Given the description of an element on the screen output the (x, y) to click on. 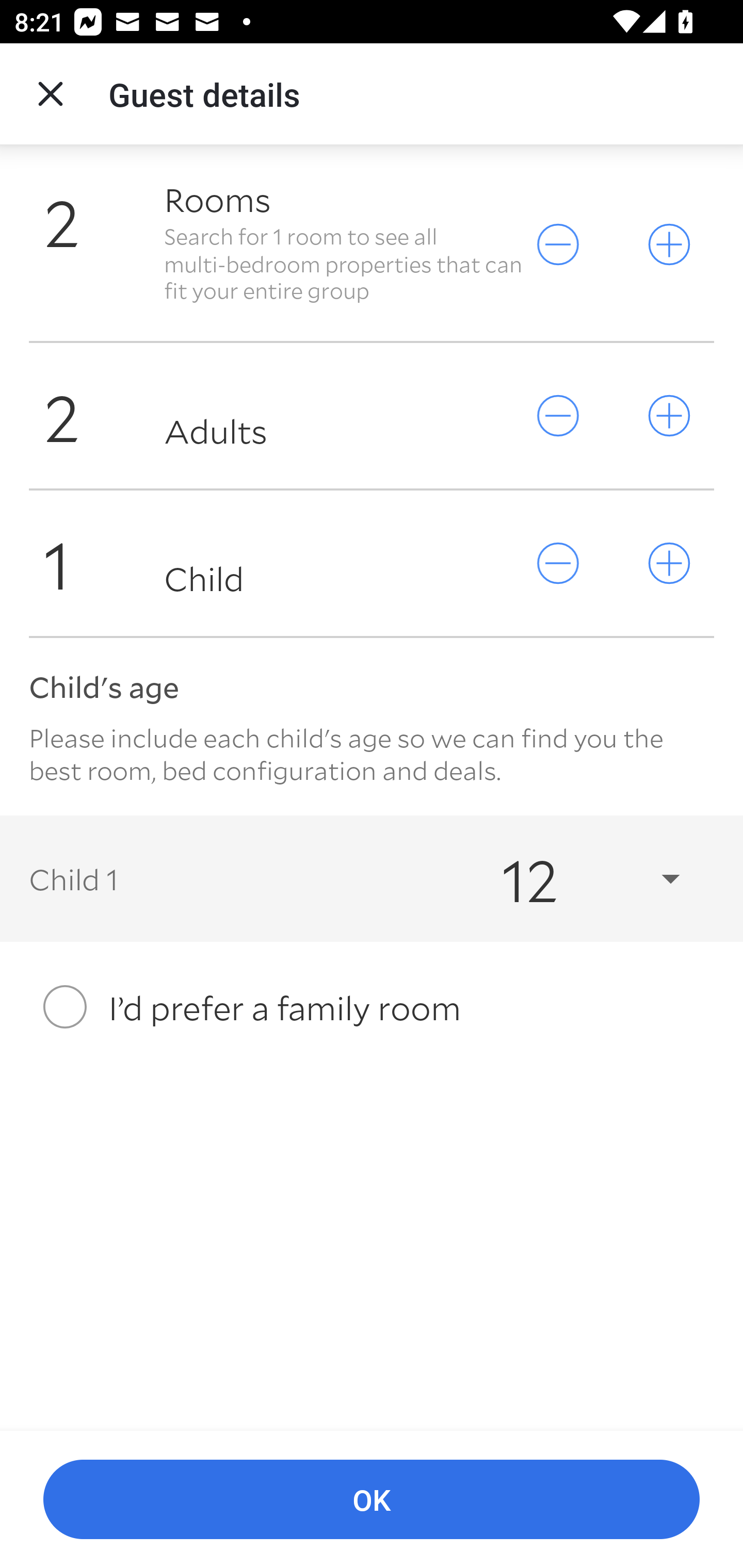
12 (573, 878)
I’d prefer a family room (371, 1006)
OK (371, 1499)
